Given the description of an element on the screen output the (x, y) to click on. 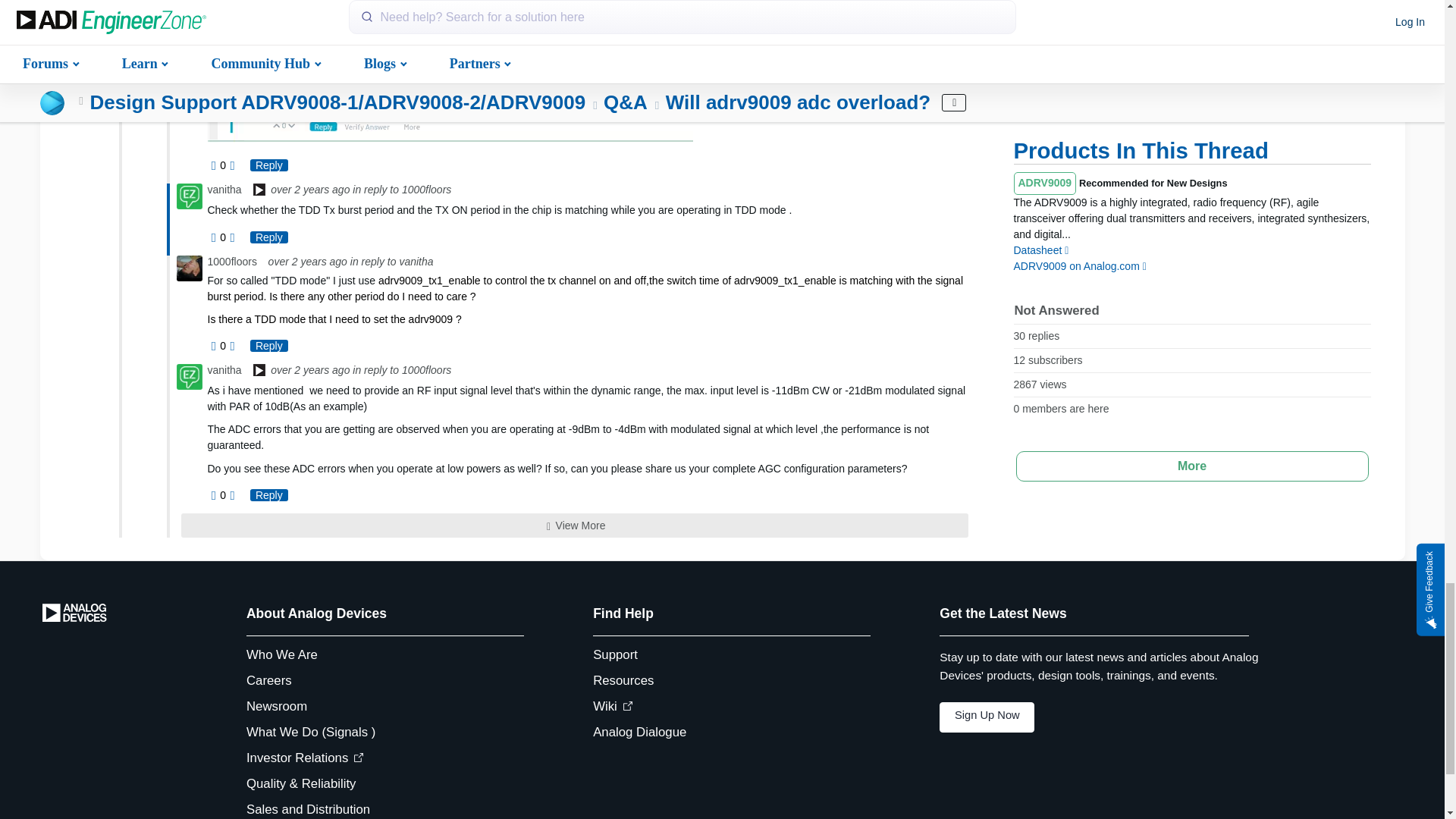
Analog Employees (258, 371)
Analog Employees (258, 191)
